Given the description of an element on the screen output the (x, y) to click on. 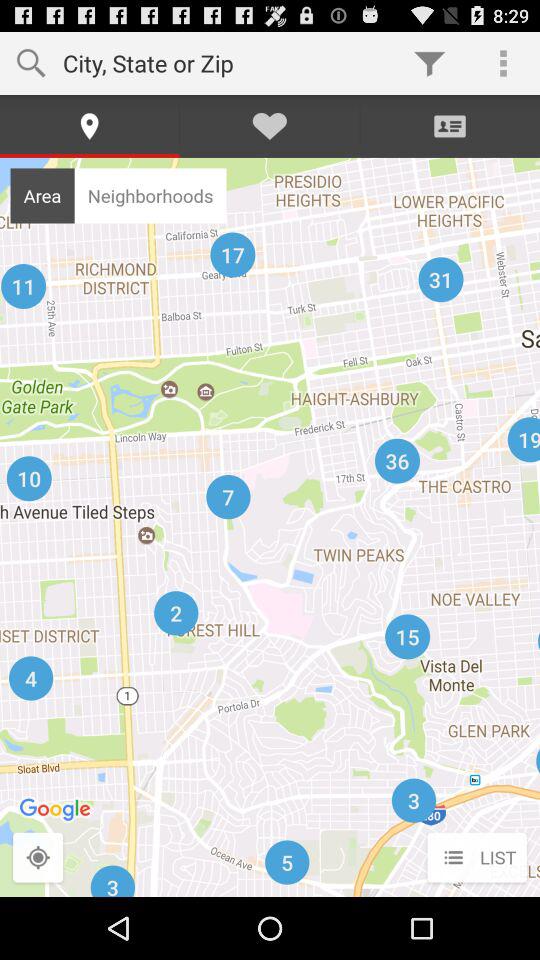
press icon next to neighborhoods item (42, 195)
